Given the description of an element on the screen output the (x, y) to click on. 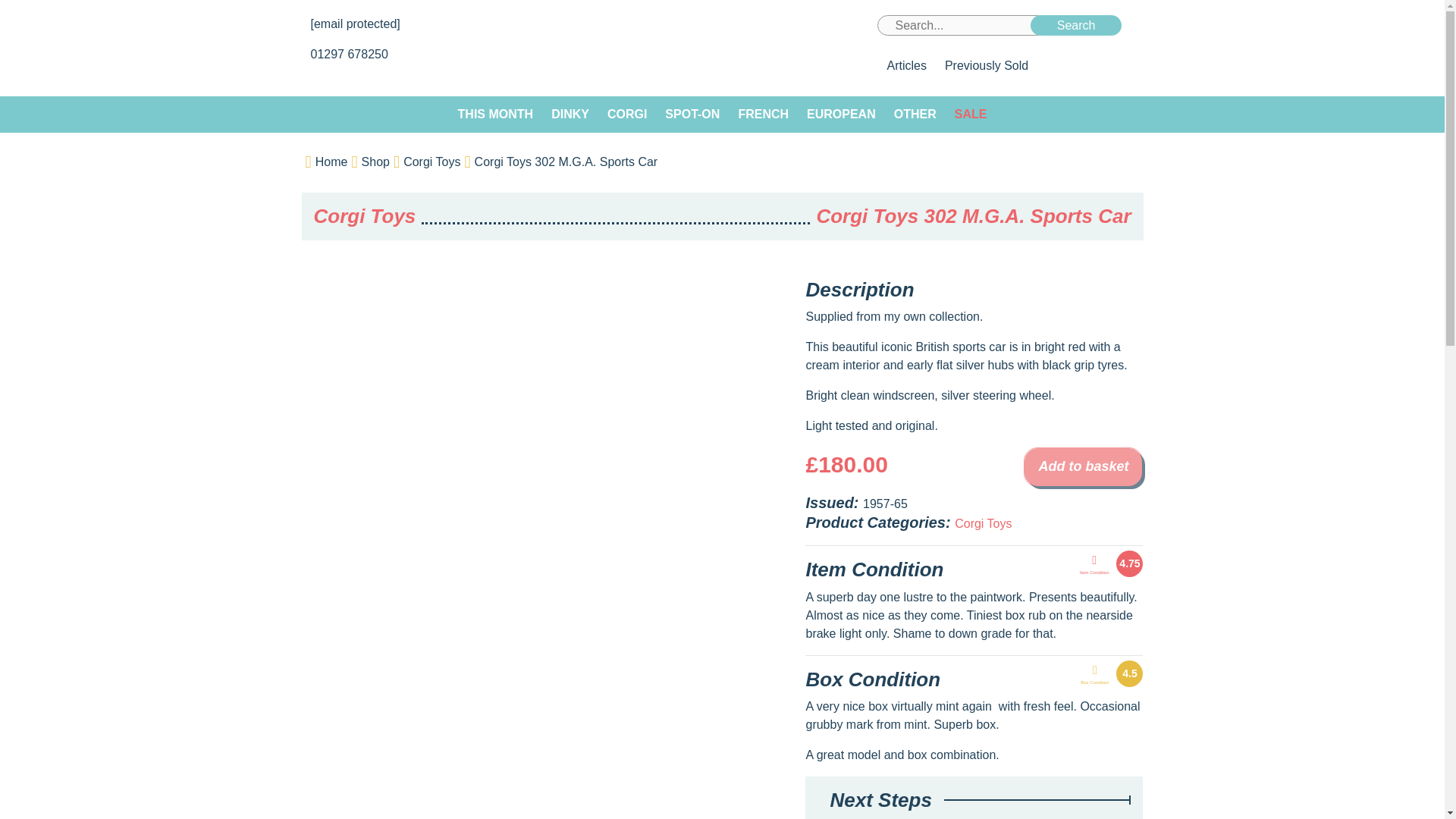
Search (1076, 25)
01297 678250 (351, 53)
THIS MONTH (495, 114)
DINKY (569, 114)
SPOT-ON (692, 114)
EUROPEAN (841, 114)
Previously Sold (986, 65)
Home (331, 162)
CORGI (627, 114)
OTHER (914, 114)
